Given the description of an element on the screen output the (x, y) to click on. 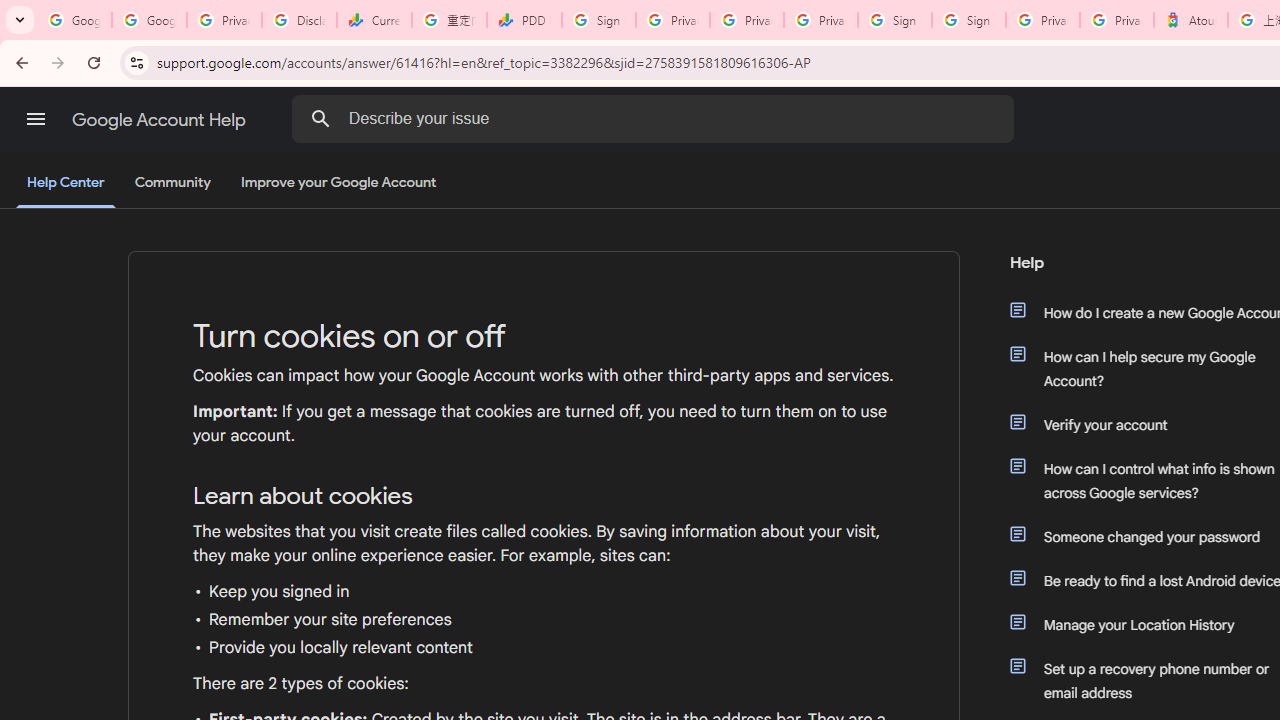
Search Help Center (320, 118)
Currencies - Google Finance (374, 20)
Privacy Checkup (747, 20)
Main menu (35, 119)
PDD Holdings Inc - ADR (PDD) Price & News - Google Finance (523, 20)
Privacy Checkup (820, 20)
Google Workspace Admin Community (74, 20)
Community (171, 183)
